Given the description of an element on the screen output the (x, y) to click on. 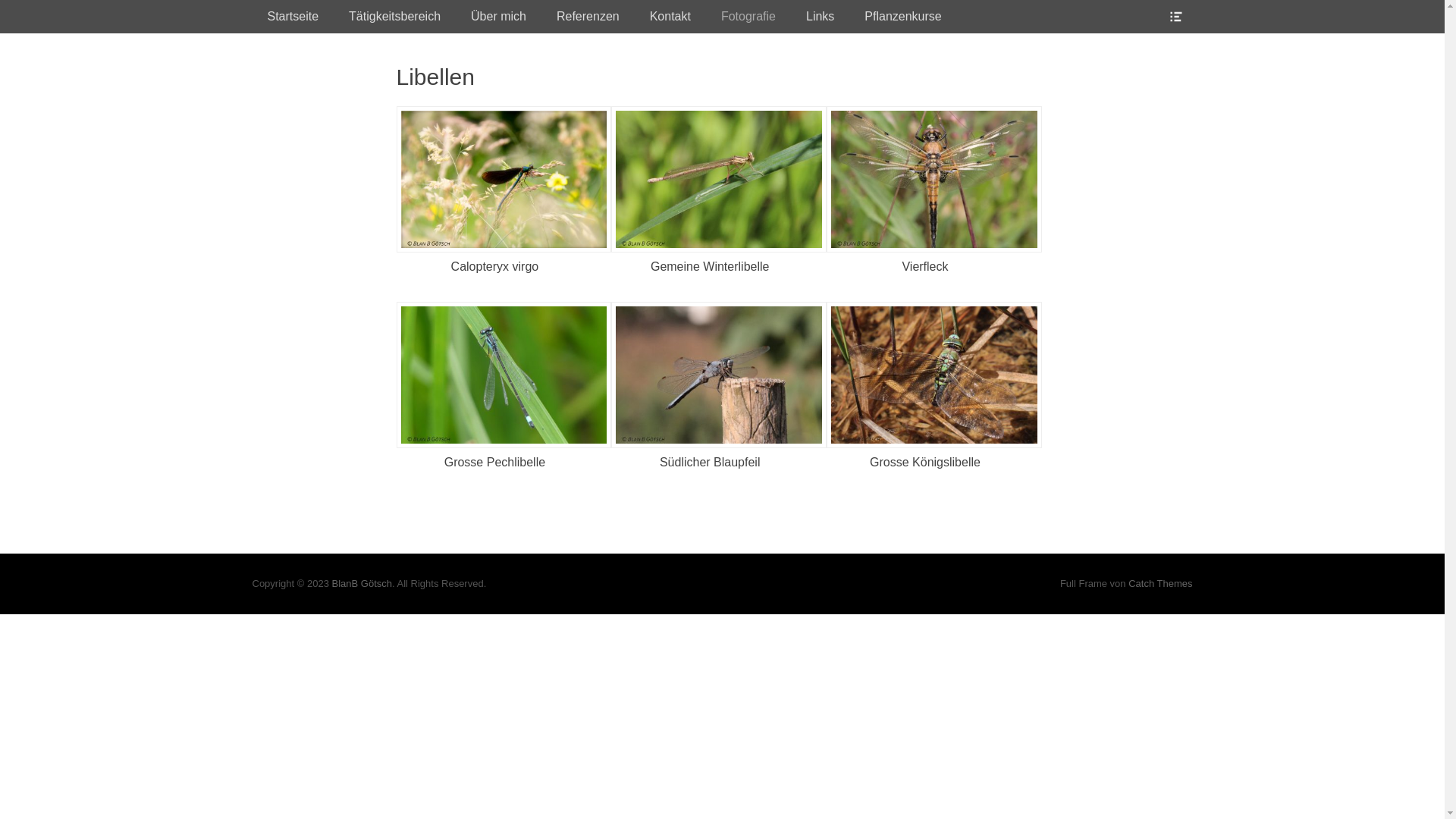
Startseite Element type: text (292, 16)
Pflanzenkurse Element type: text (902, 16)
Catch Themes Element type: text (1160, 583)
Fotografie Element type: text (748, 16)
Links Element type: text (819, 16)
Kontakt Element type: text (670, 16)
Referenzen Element type: text (587, 16)
